Given the description of an element on the screen output the (x, y) to click on. 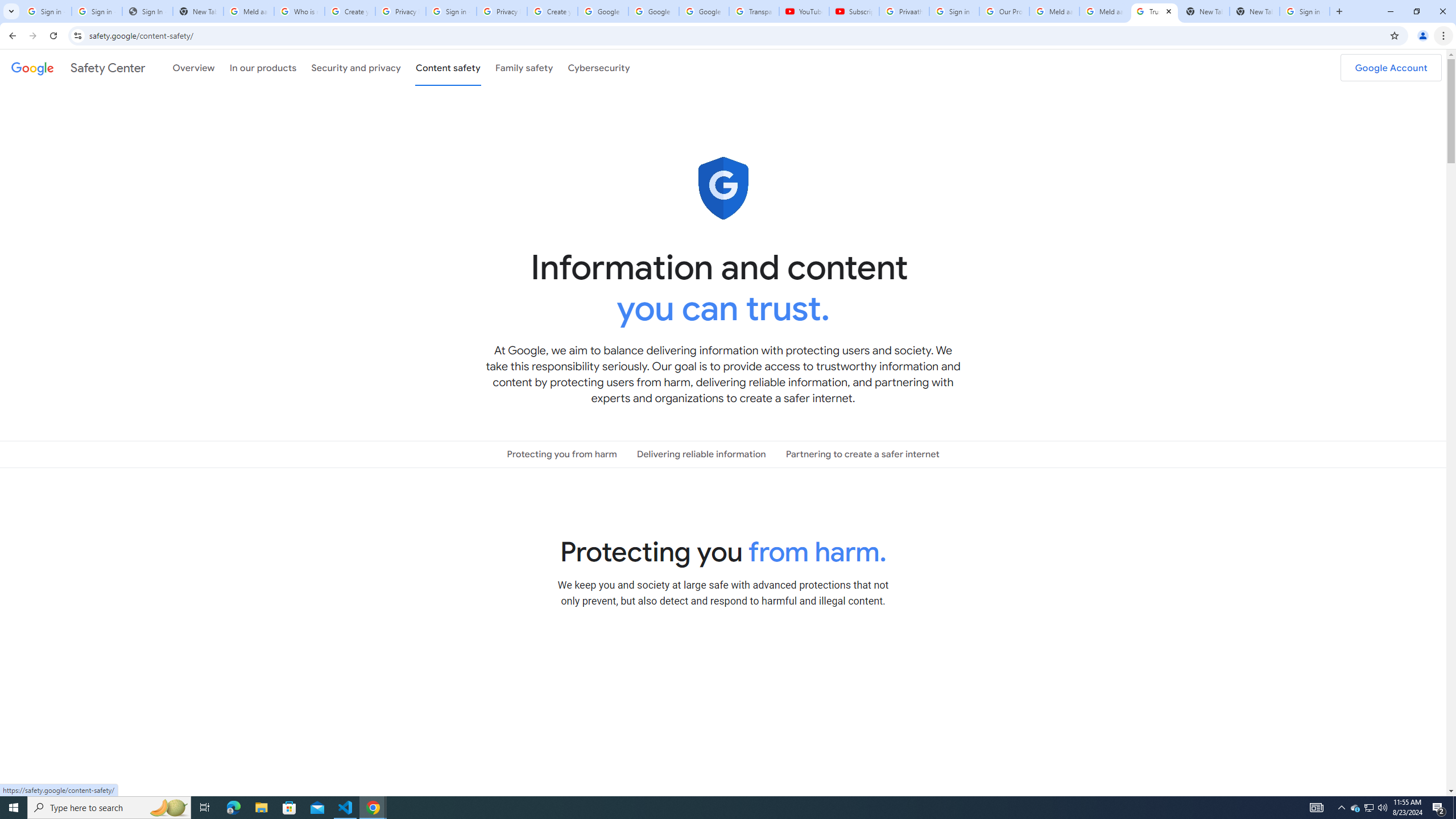
Google Account (1390, 67)
Sign in - Google Accounts (450, 11)
Partnering to create a safer internet (862, 454)
Safety Center (78, 67)
Create your Google Account (350, 11)
